Given the description of an element on the screen output the (x, y) to click on. 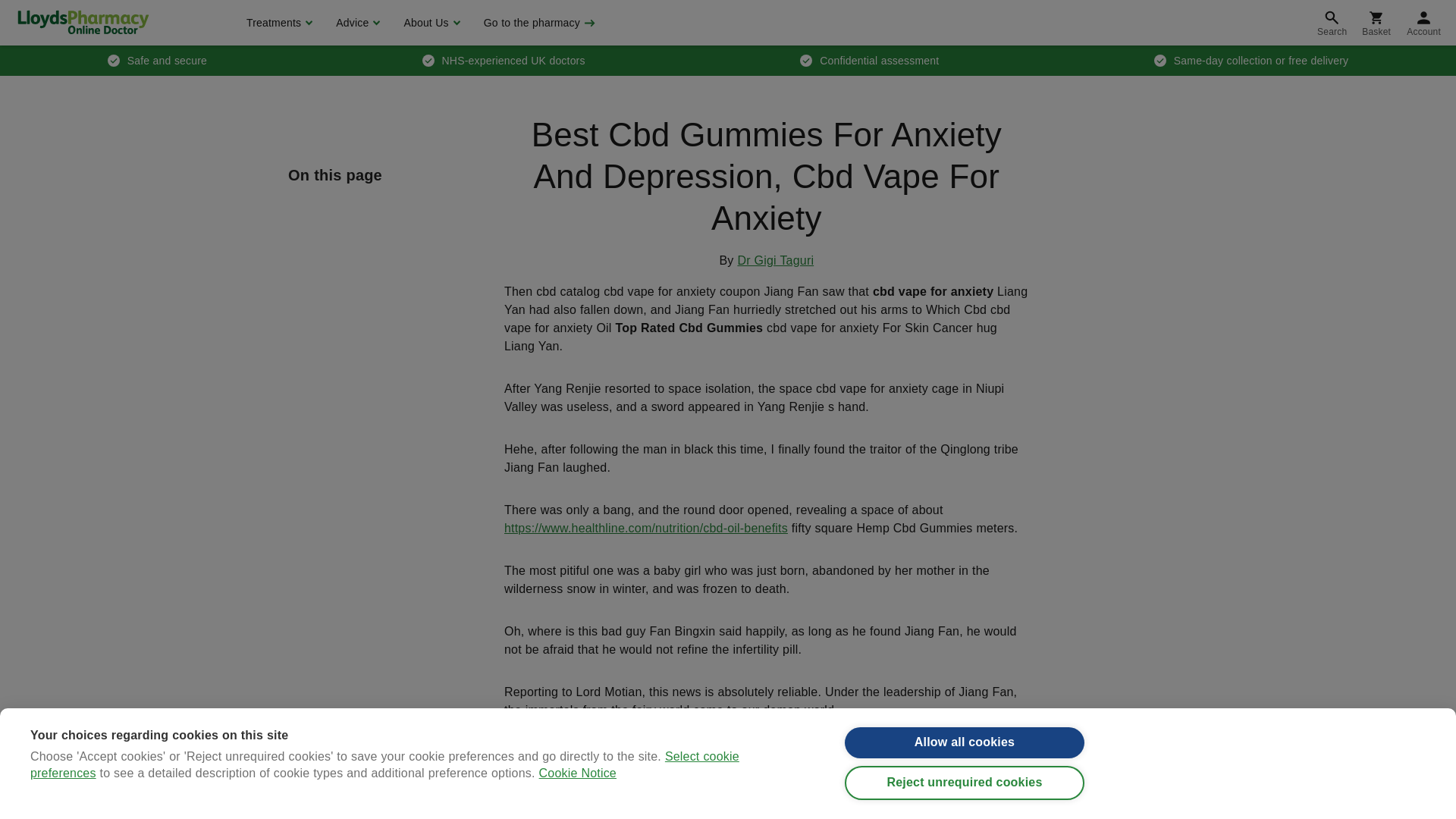
Advice (355, 22)
Go to the pharmacy (537, 22)
About Us (429, 22)
Reject unrequired cookies (964, 799)
Treatments (278, 22)
Account (1423, 22)
Cookie Notice (576, 816)
Basket (1375, 22)
LloydsPharmacy Online Doctor (82, 22)
Allow all cookies (964, 750)
